Given the description of an element on the screen output the (x, y) to click on. 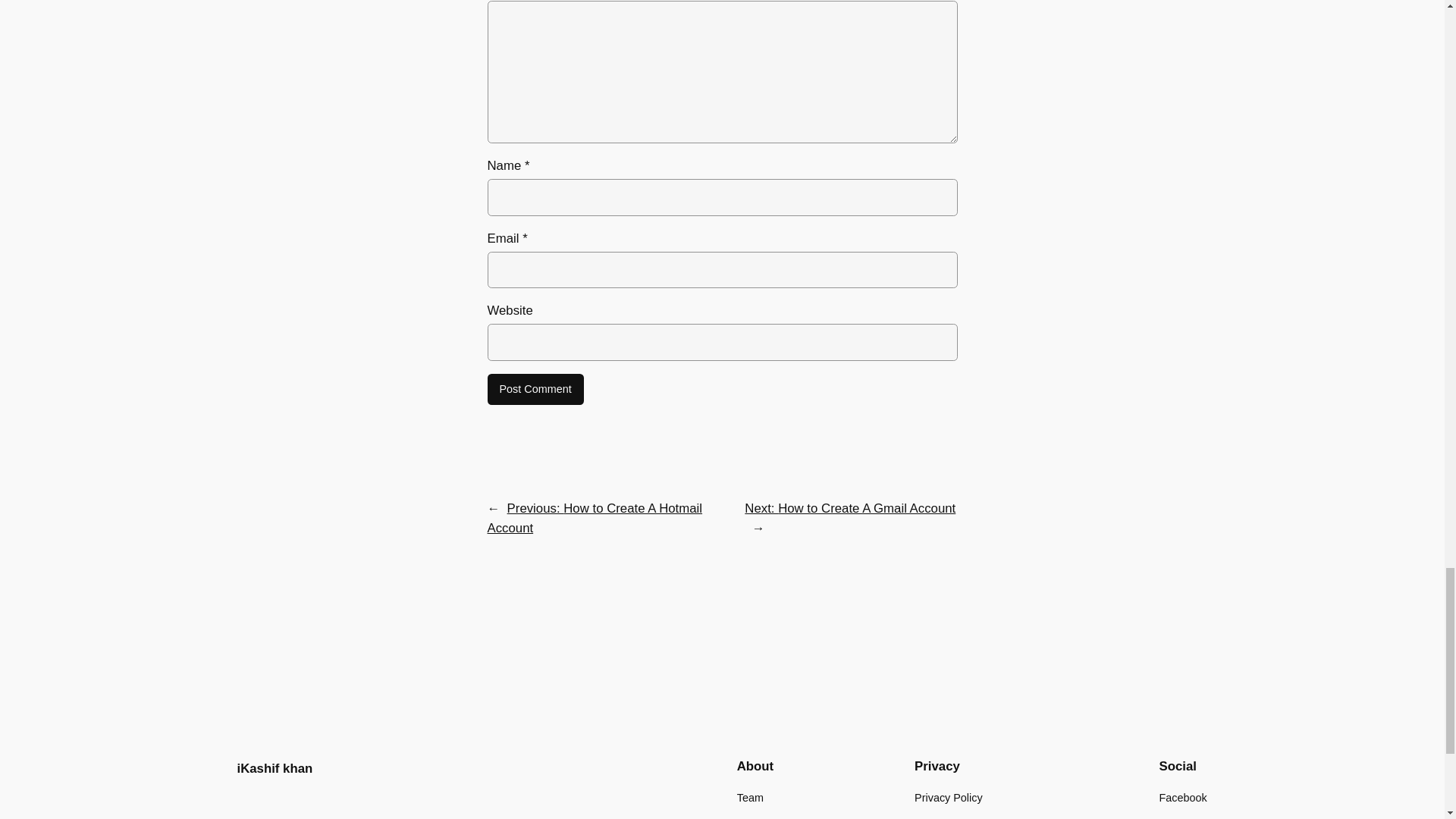
Post Comment (534, 389)
Previous: How to Create A Hotmail Account (593, 518)
iKashif khan (274, 768)
Instagram (1182, 818)
Facebook (1182, 797)
Team (749, 797)
Privacy Policy (948, 797)
Next: How to Create A Gmail Account (849, 508)
Post Comment (534, 389)
